Given the description of an element on the screen output the (x, y) to click on. 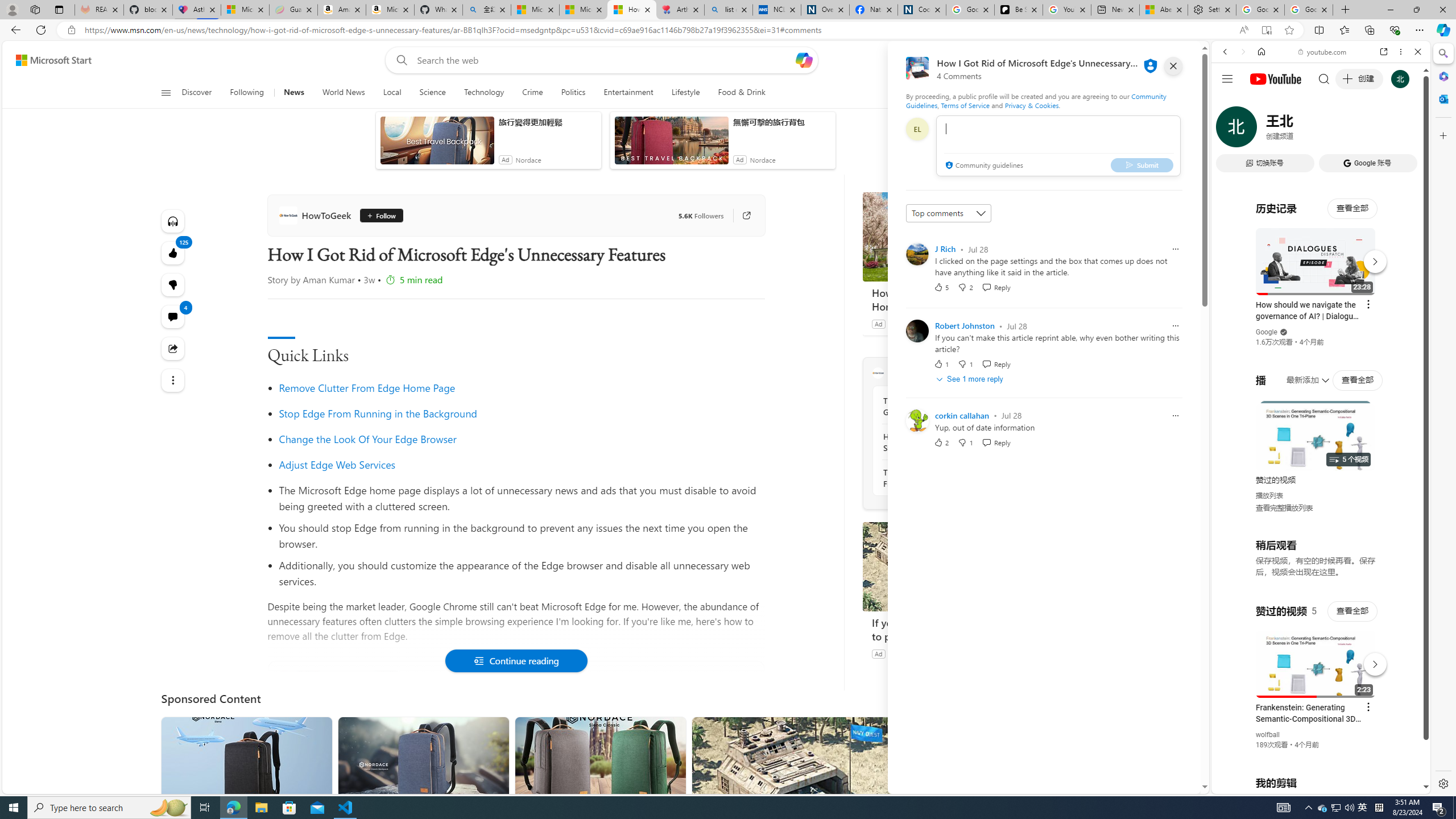
5 Like (940, 287)
See 1 more reply (971, 378)
Enter Immersive Reader (F9) (1266, 29)
Personalize (1006, 92)
Trailer #2 [HD] (1320, 336)
Follow (379, 215)
Terms of Service (965, 104)
How to Check Your Wi-Fi Signal Strength (944, 441)
US[ju] (1249, 785)
Forward (1242, 51)
